Given the description of an element on the screen output the (x, y) to click on. 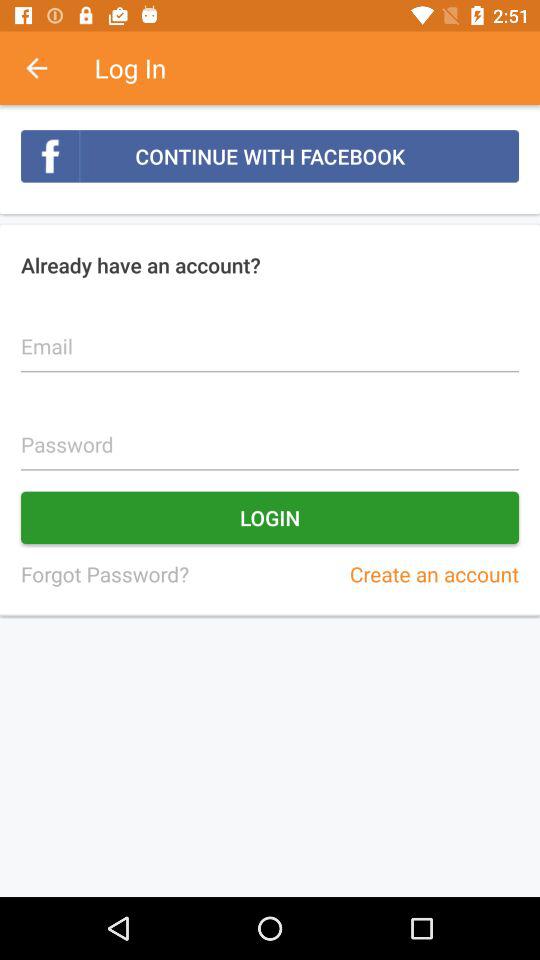
click continue with facebook (270, 156)
